Given the description of an element on the screen output the (x, y) to click on. 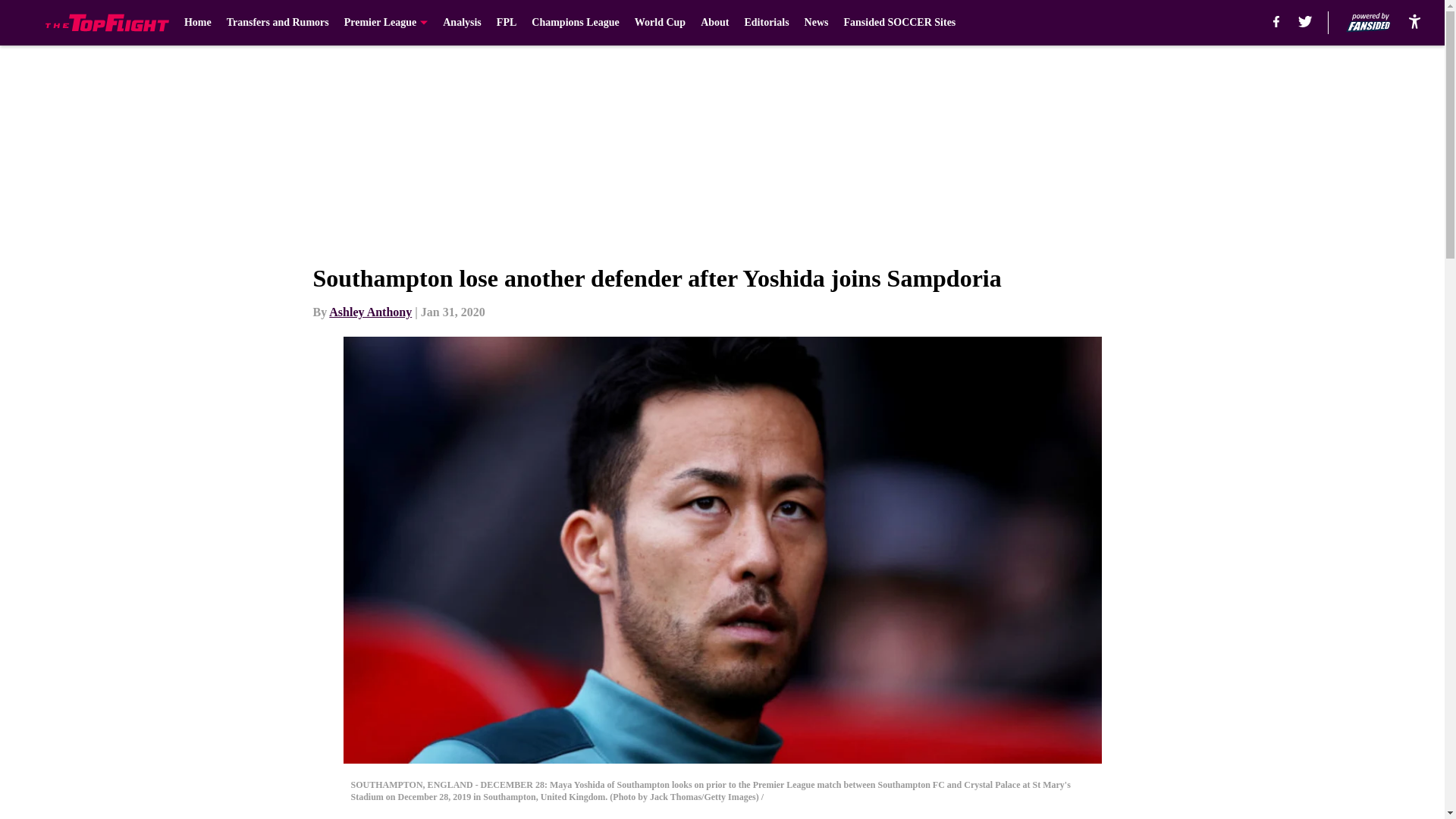
Home (197, 22)
Fansided SOCCER Sites (899, 22)
About (714, 22)
World Cup (659, 22)
Analysis (461, 22)
Ashley Anthony (370, 311)
Transfers and Rumors (278, 22)
Editorials (766, 22)
News (816, 22)
Champions League (575, 22)
